Given the description of an element on the screen output the (x, y) to click on. 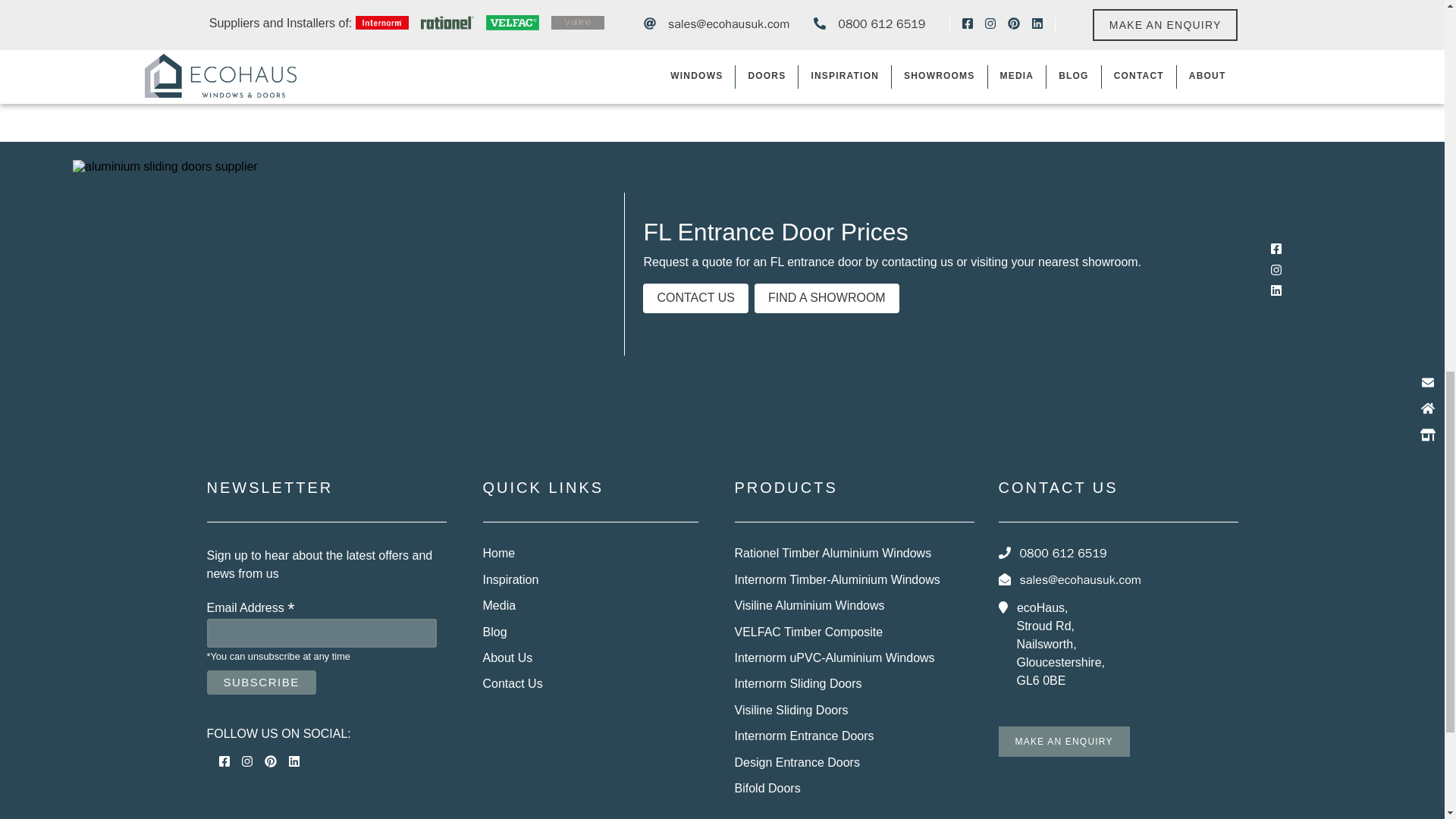
Subscribe (260, 682)
